Given the description of an element on the screen output the (x, y) to click on. 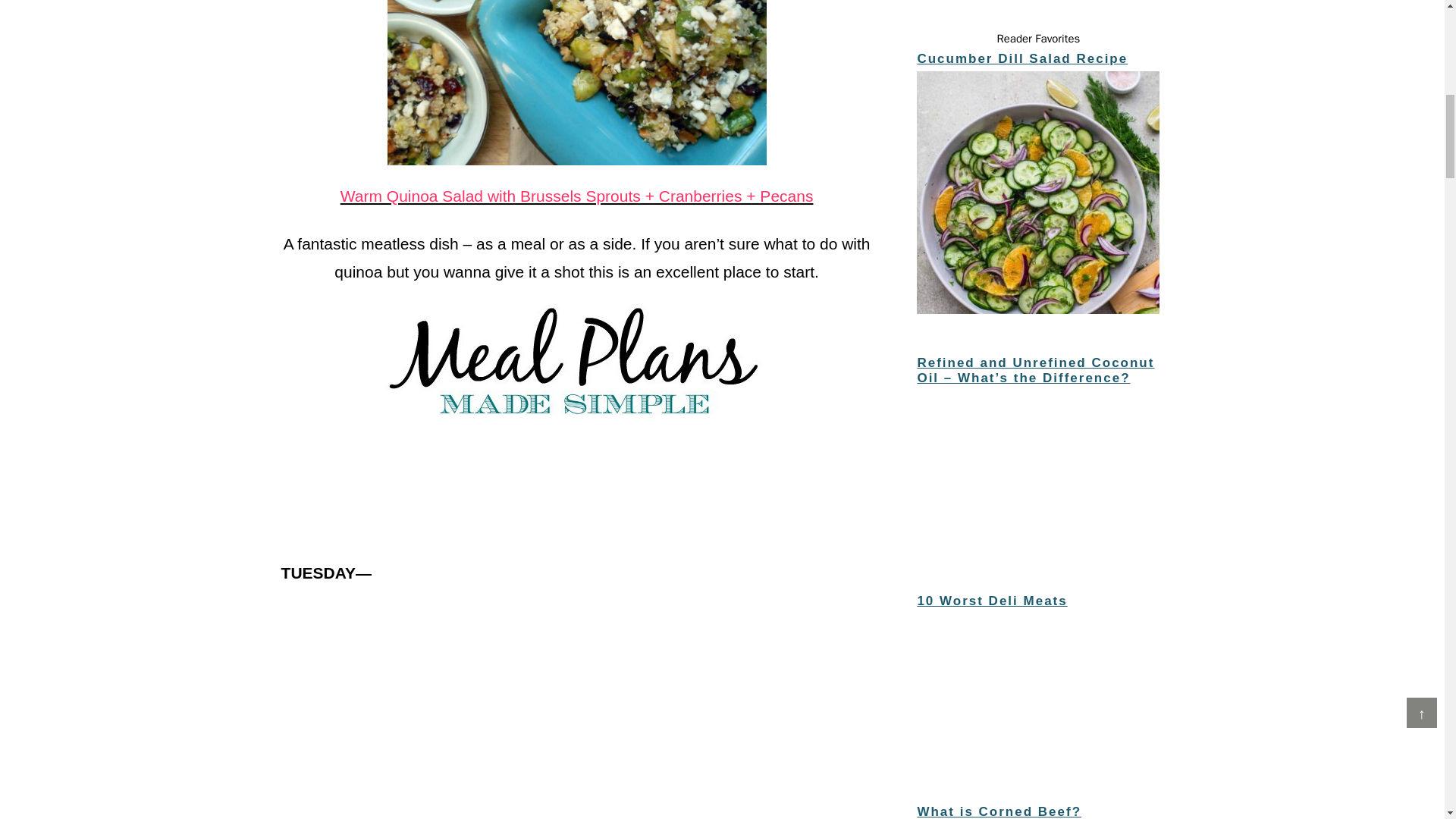
Cucumber Dill Salad Recipe (1021, 58)
What is Corned Beef? (999, 811)
10 Worst Deli Meats (992, 600)
Cucumber Dill Salad Recipe (1037, 194)
10 Worst Deli Meats (1037, 690)
